Given the description of an element on the screen output the (x, y) to click on. 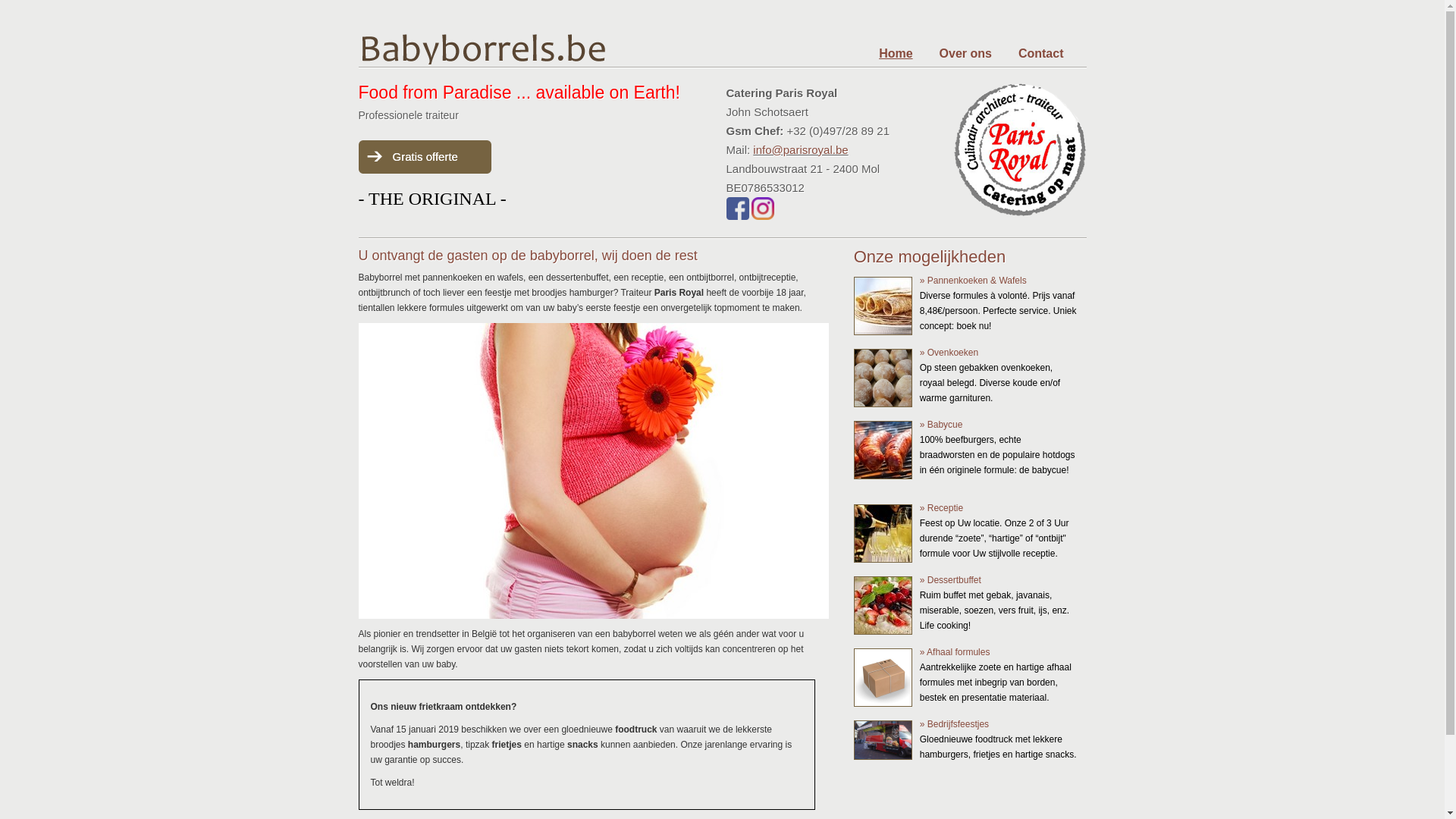
Home Element type: text (895, 53)
Over ons Element type: text (965, 53)
Gratis offerte Element type: text (431, 156)
Contact Element type: text (1040, 53)
BabyBorrels.be Element type: text (556, 47)
info@parisroyal.be Element type: text (800, 149)
